Given the description of an element on the screen output the (x, y) to click on. 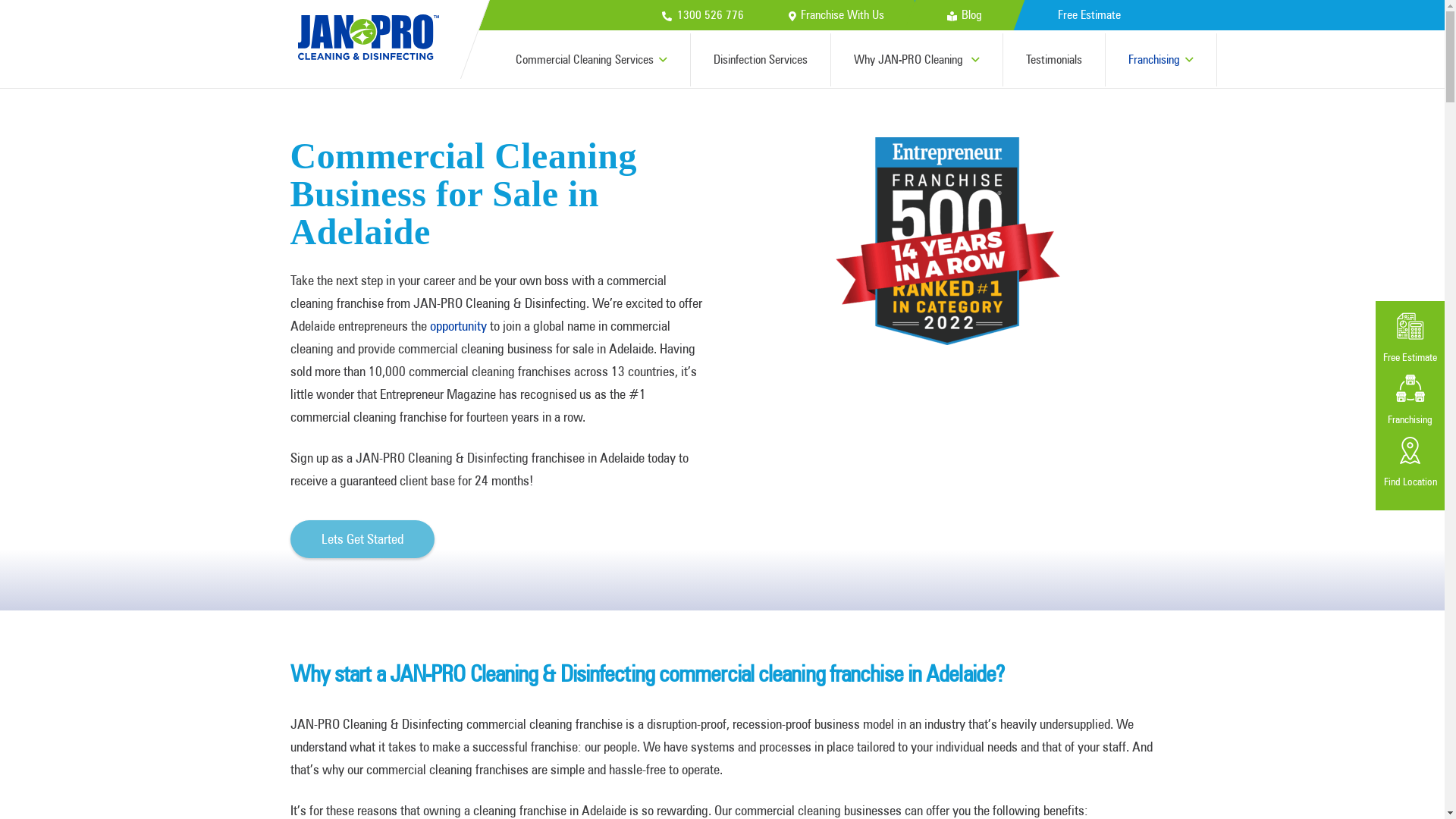
1300 526 776 Element type: text (702, 14)
Free Estimate Element type: text (1088, 14)
Blog Element type: text (964, 15)
Franchising Element type: text (1161, 59)
Franchise With Us Element type: text (836, 14)
Testimonials Element type: text (1054, 59)
Why JAN-PRO Cleaning Element type: text (917, 59)
opportunity Element type: text (457, 325)
Commercial Cleaning Services Element type: text (591, 59)
Disinfection Services Element type: text (760, 59)
Lets Get Started Element type: text (361, 539)
